Given the description of an element on the screen output the (x, y) to click on. 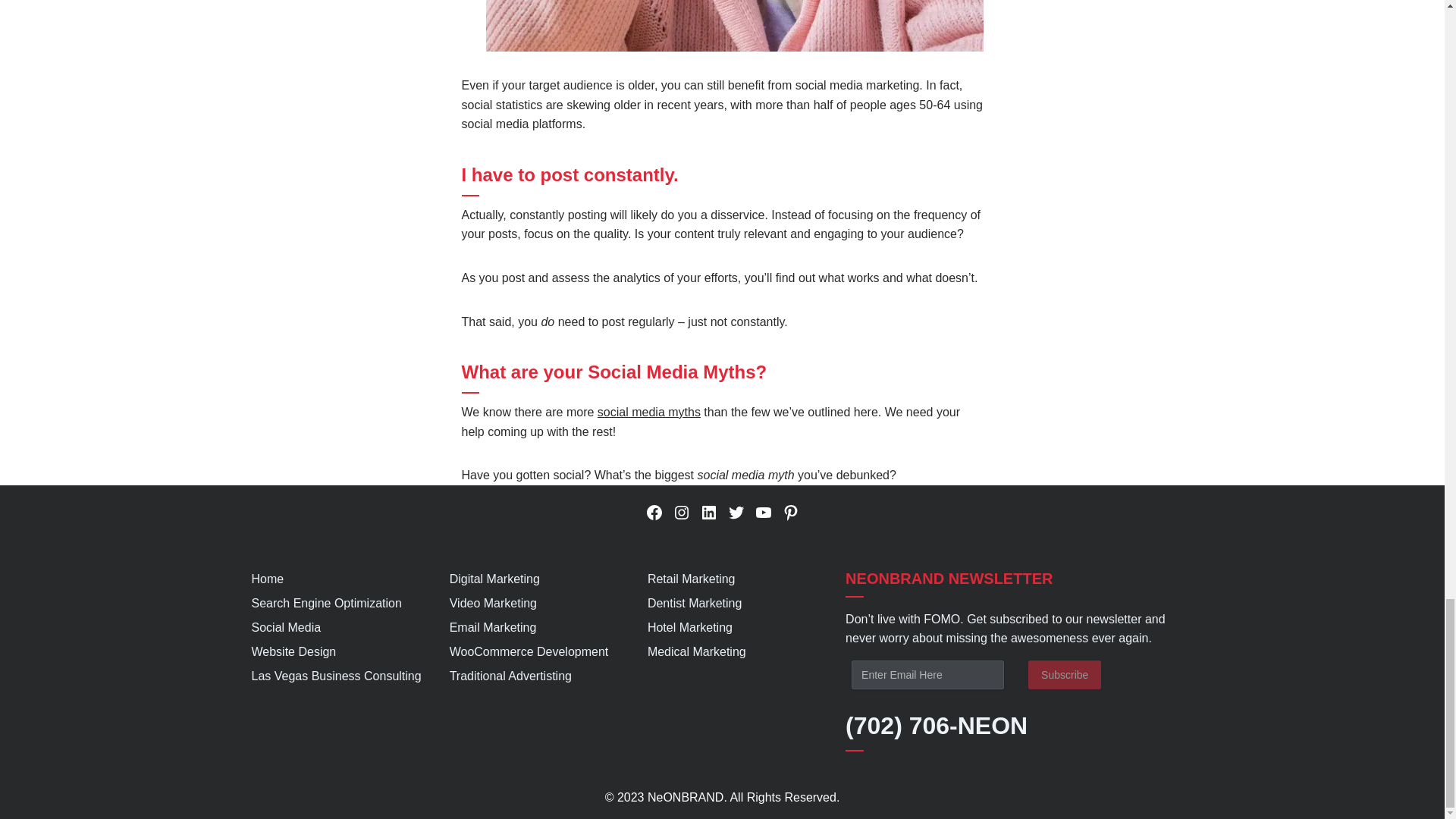
Subscribe (1063, 674)
Social Media (286, 626)
Retail Marketing (691, 578)
Dentist Marketing (694, 603)
YouTube (762, 512)
Home (267, 578)
Twitter (735, 512)
Pinterest (789, 512)
Digital Marketing (494, 578)
Website Design (293, 651)
